Given the description of an element on the screen output the (x, y) to click on. 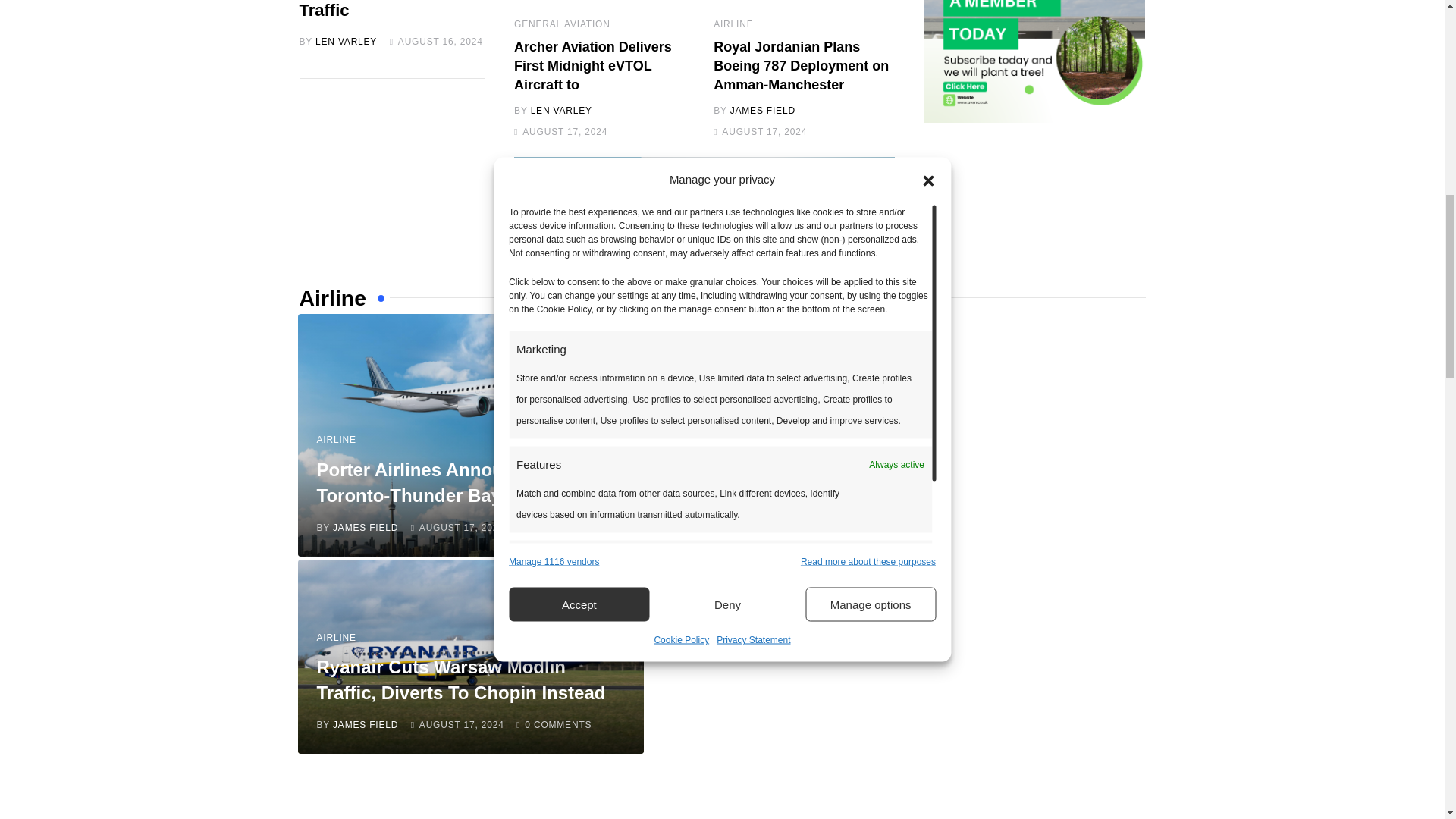
Posts by James Field (365, 526)
Posts by James Field (365, 724)
Posts by Len Varley (561, 110)
Posts by Len Varley (346, 41)
Posts by James Field (762, 110)
